Given the description of an element on the screen output the (x, y) to click on. 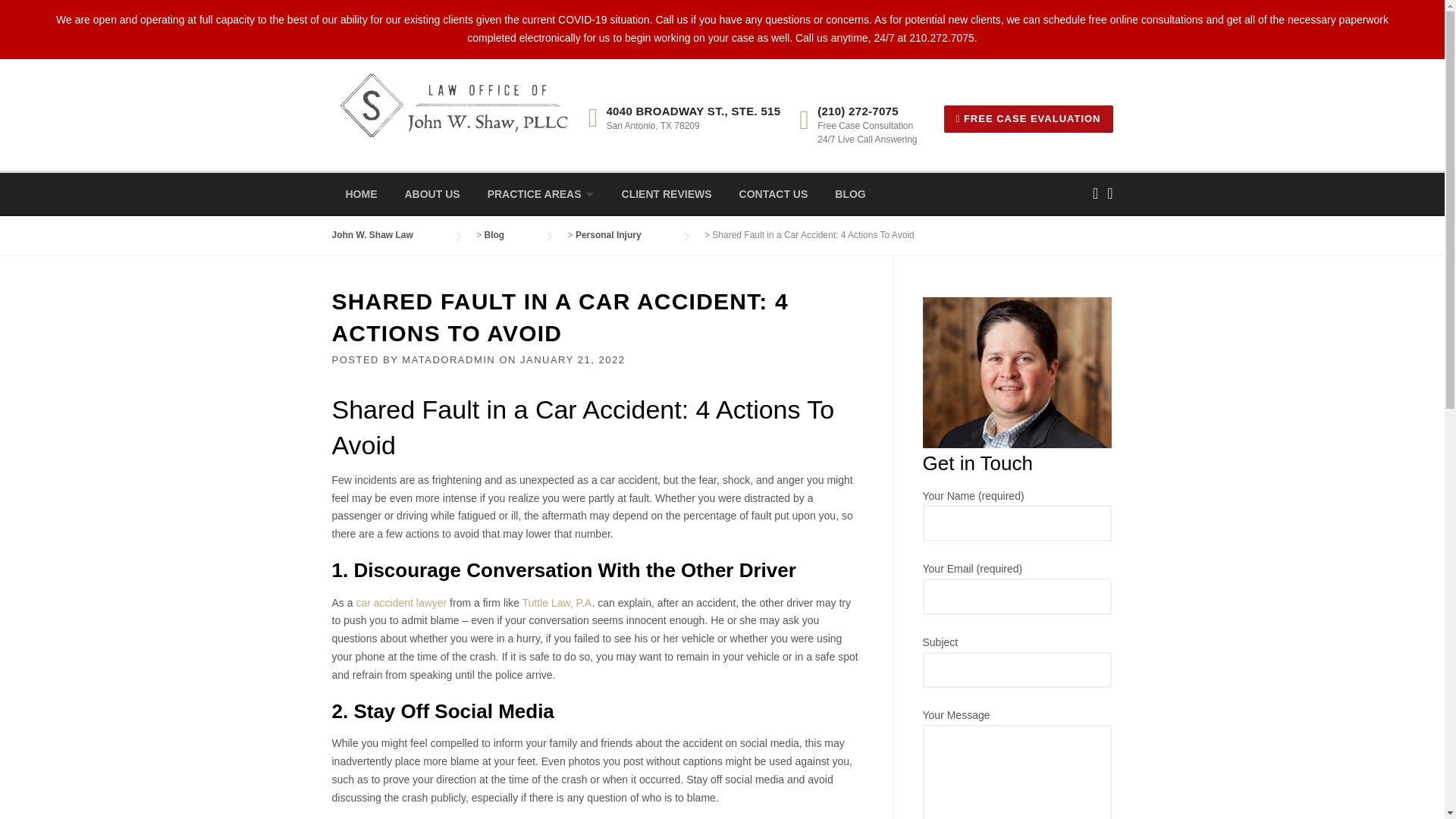
car accident lawyer (400, 603)
FREE CASE EVALUATION (1028, 118)
John W. Shaw Law (387, 235)
HOME (361, 194)
PRACTICE AREAS (541, 194)
Linkedin (1109, 193)
Go to John W. Shaw Law. (387, 235)
Facebook (1095, 193)
Personal Injury (623, 235)
Tuttle Law, P.A (557, 603)
CLIENT REVIEWS (666, 194)
CONTACT US (773, 194)
JANUARY 21, 2022 (571, 359)
ABOUT US (432, 194)
